Given the description of an element on the screen output the (x, y) to click on. 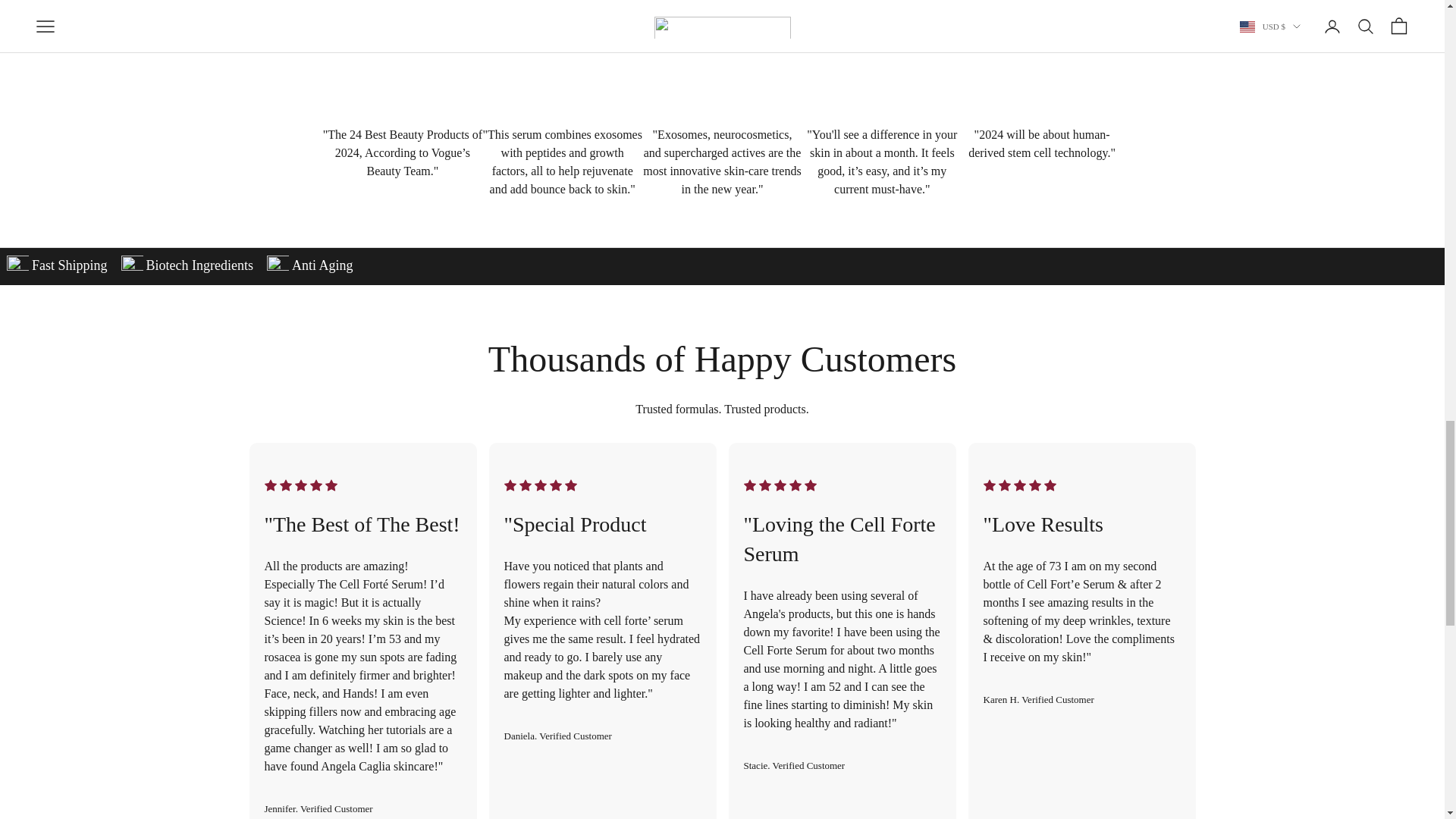
Biotech Ingredients (179, 266)
Anti Aging (186, 266)
Fast Shipping (309, 266)
